Given the description of an element on the screen output the (x, y) to click on. 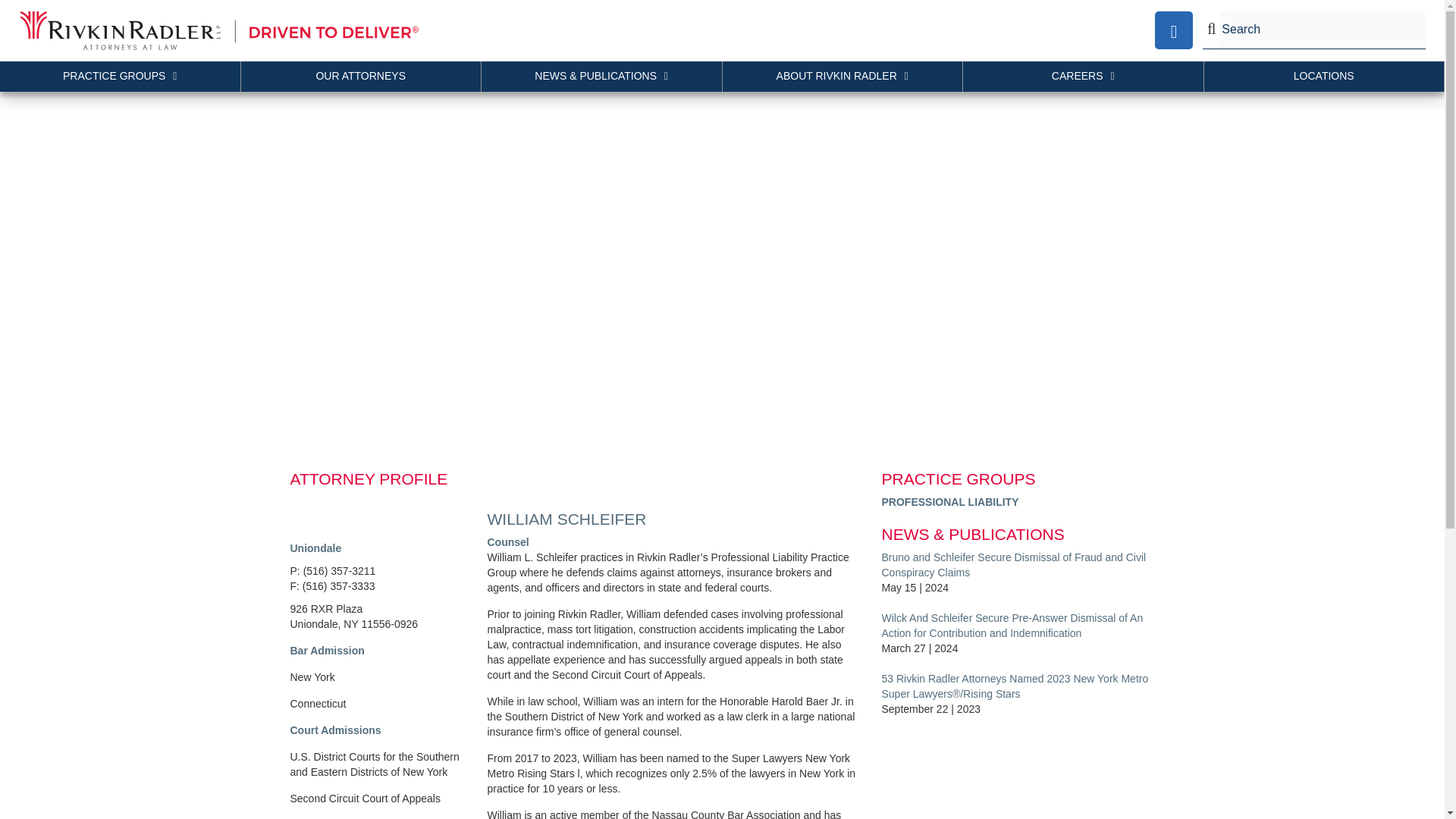
PRACTICE GROUPS (120, 76)
OUR ATTORNEYS (361, 76)
ABOUT RIVKIN RADLER (842, 76)
